Given the description of an element on the screen output the (x, y) to click on. 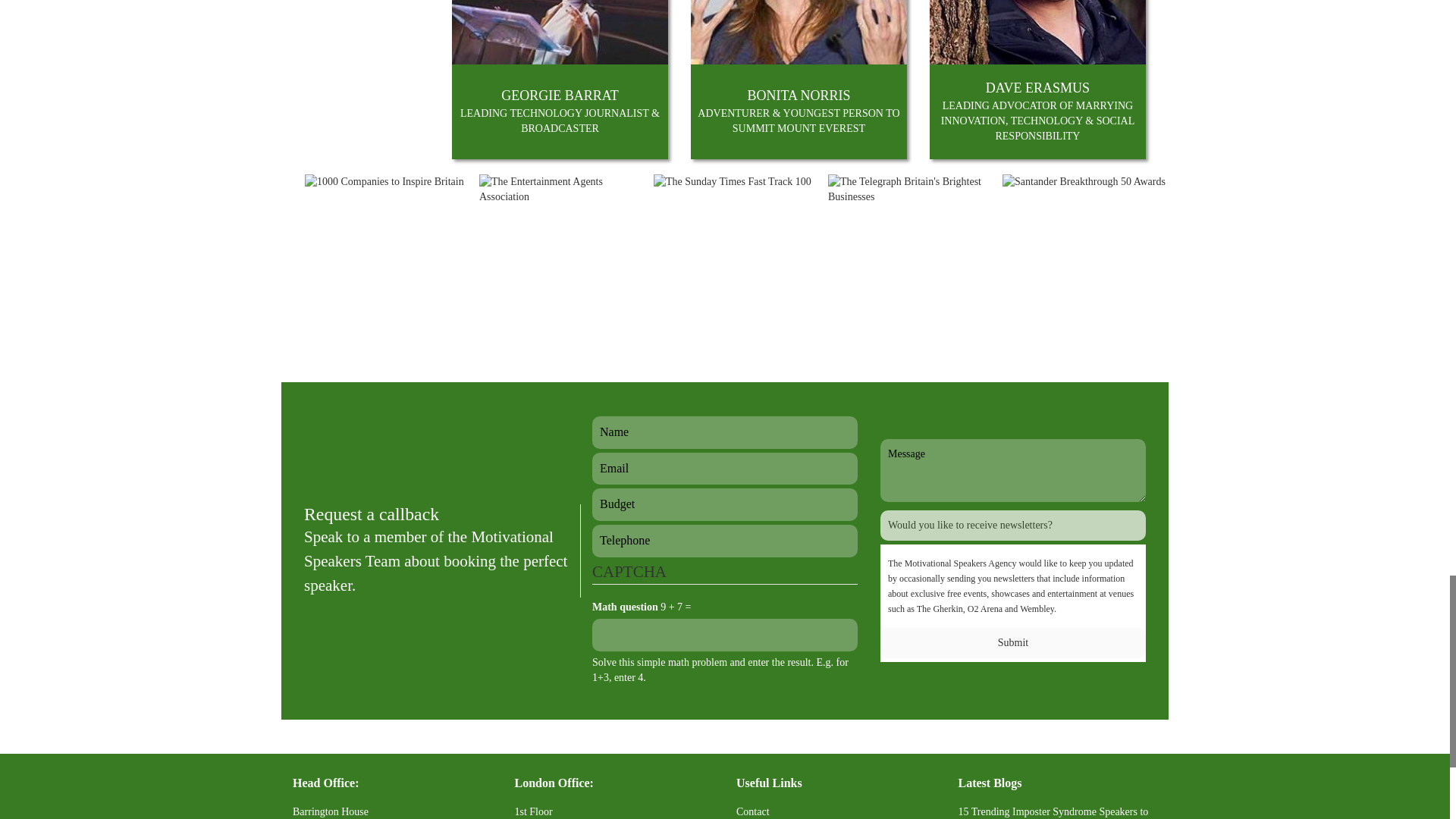
Submit (1012, 643)
